Given the description of an element on the screen output the (x, y) to click on. 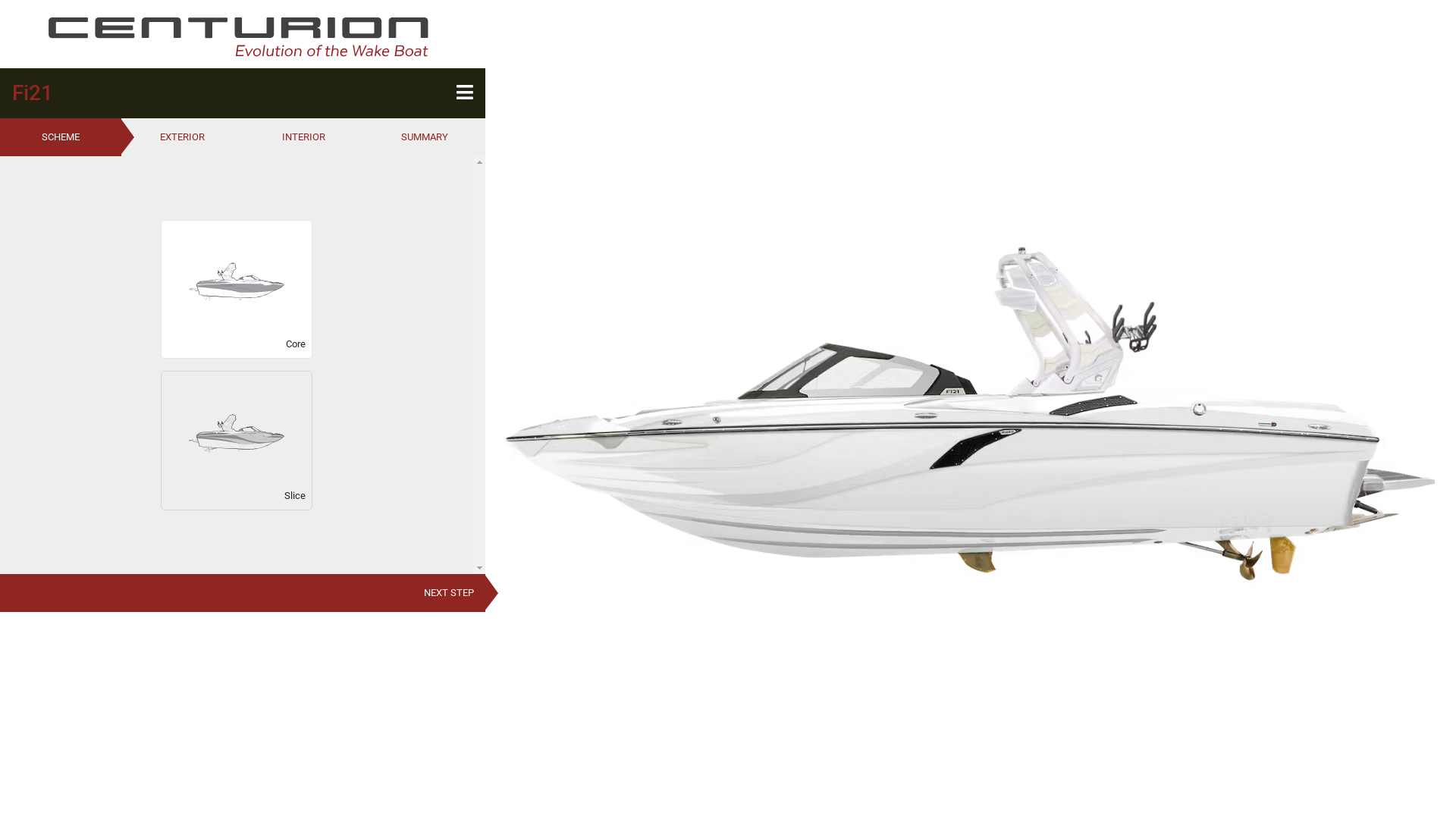
INTERIOR Element type: text (303, 137)
EXTERIOR Element type: text (181, 137)
SUMMARY Element type: text (424, 137)
SCHEME Element type: text (60, 137)
